Given the description of an element on the screen output the (x, y) to click on. 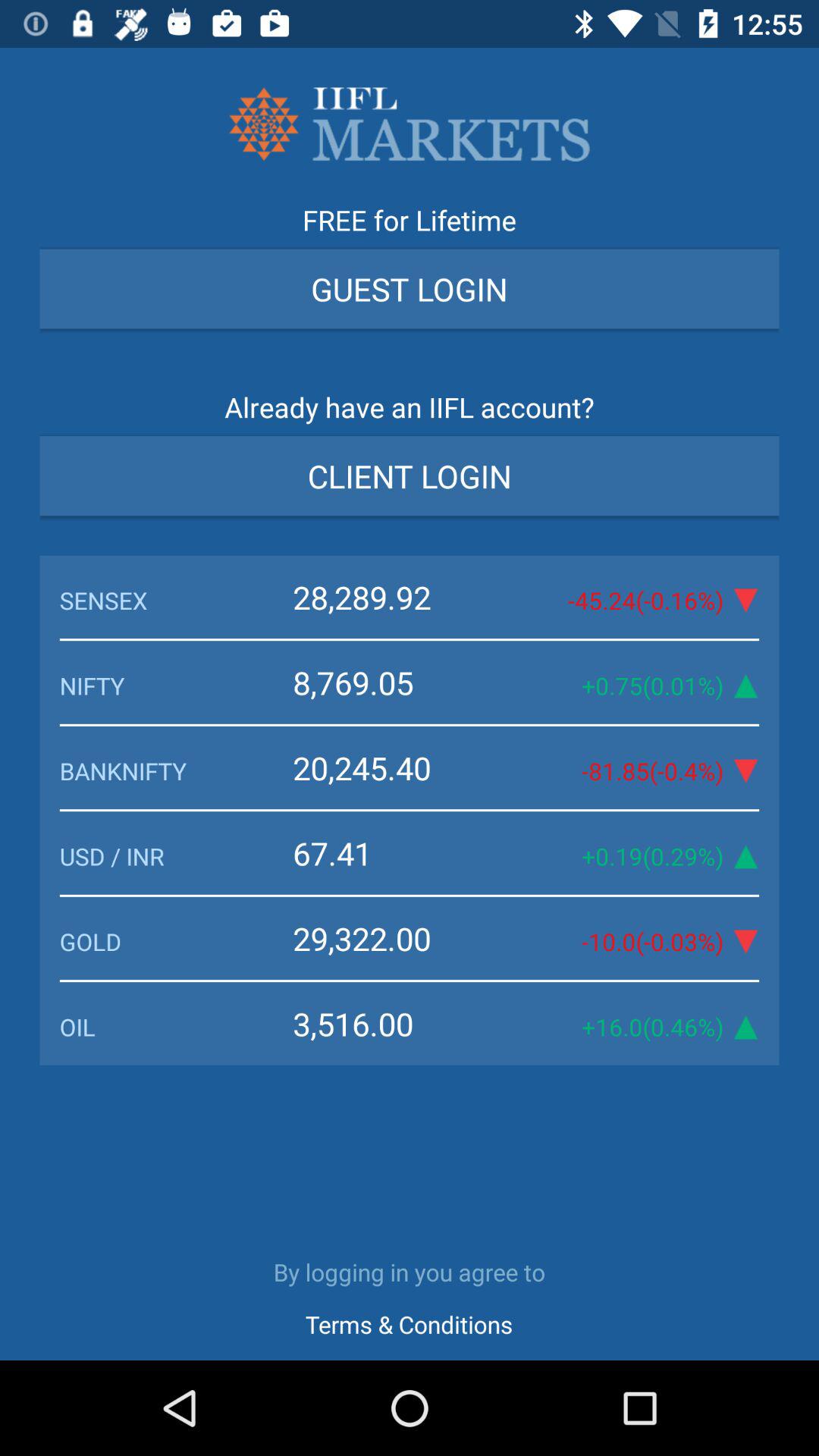
tap gold (175, 941)
